Given the description of an element on the screen output the (x, y) to click on. 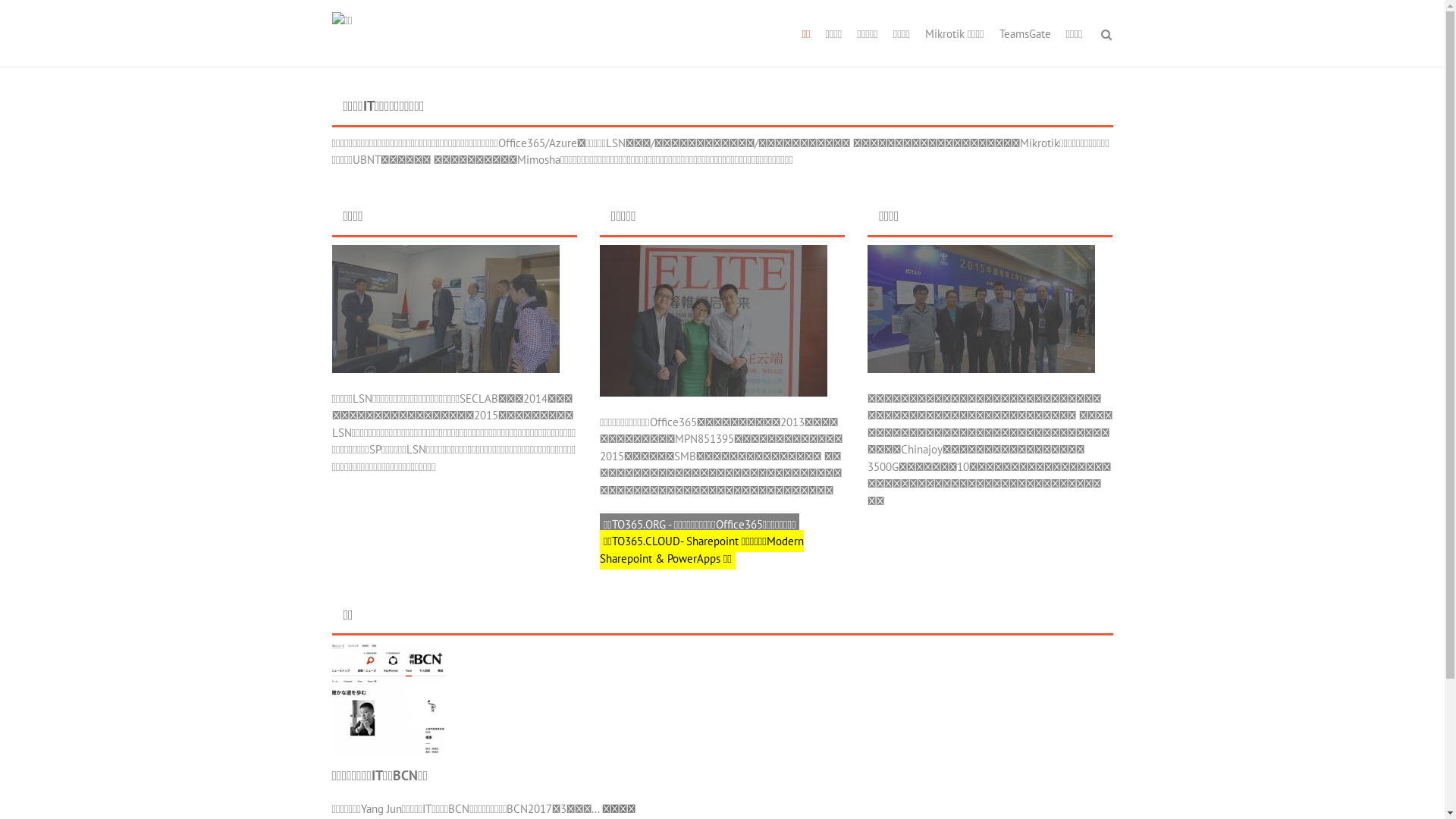
TeamsGate Element type: text (1024, 34)
